Given the description of an element on the screen output the (x, y) to click on. 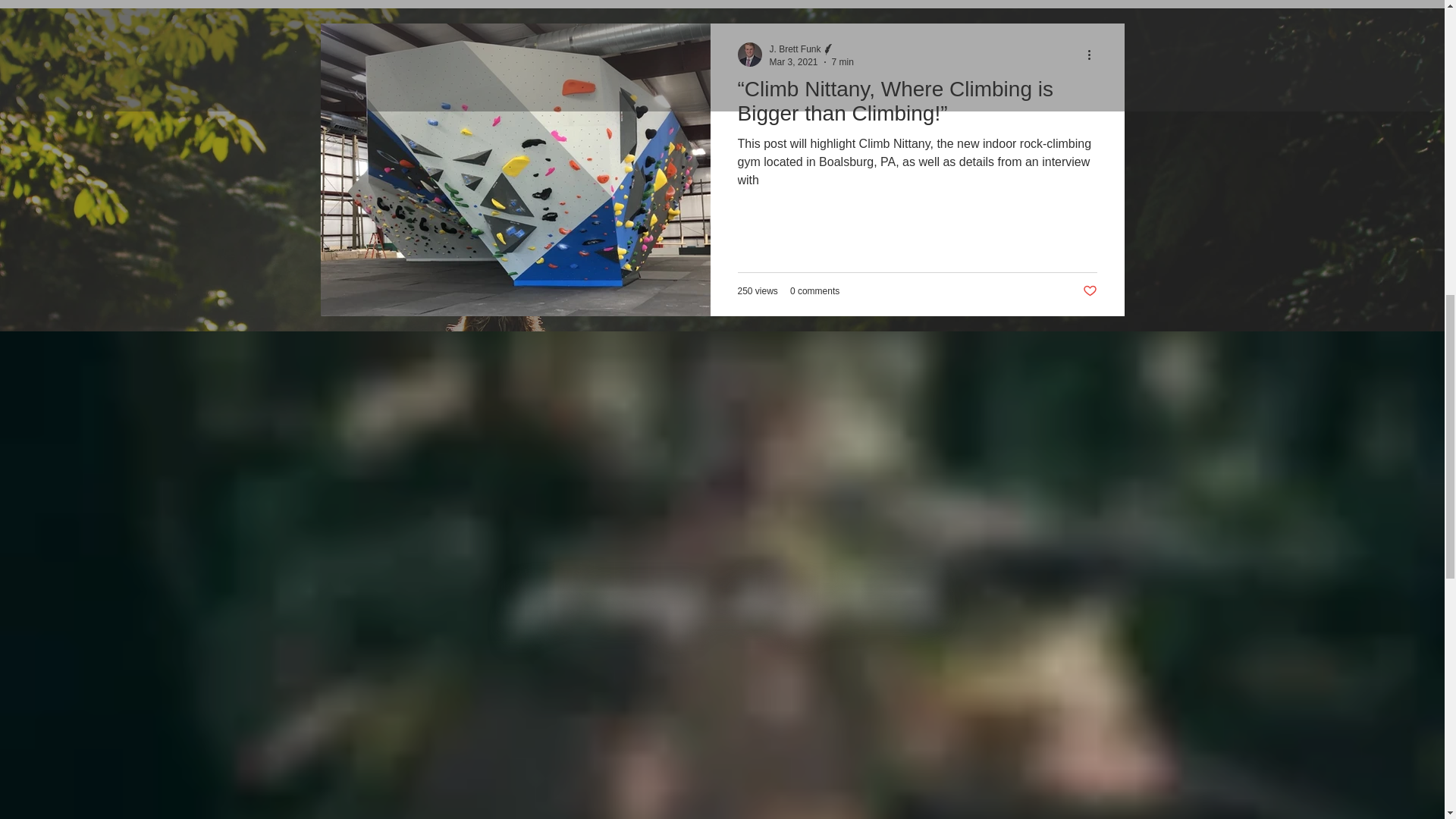
0 comments (815, 290)
Post not marked as liked (1090, 291)
J. Brett Funk (794, 49)
J. Brett Funk (810, 49)
7 min (842, 61)
Mar 3, 2021 (792, 61)
